Given the description of an element on the screen output the (x, y) to click on. 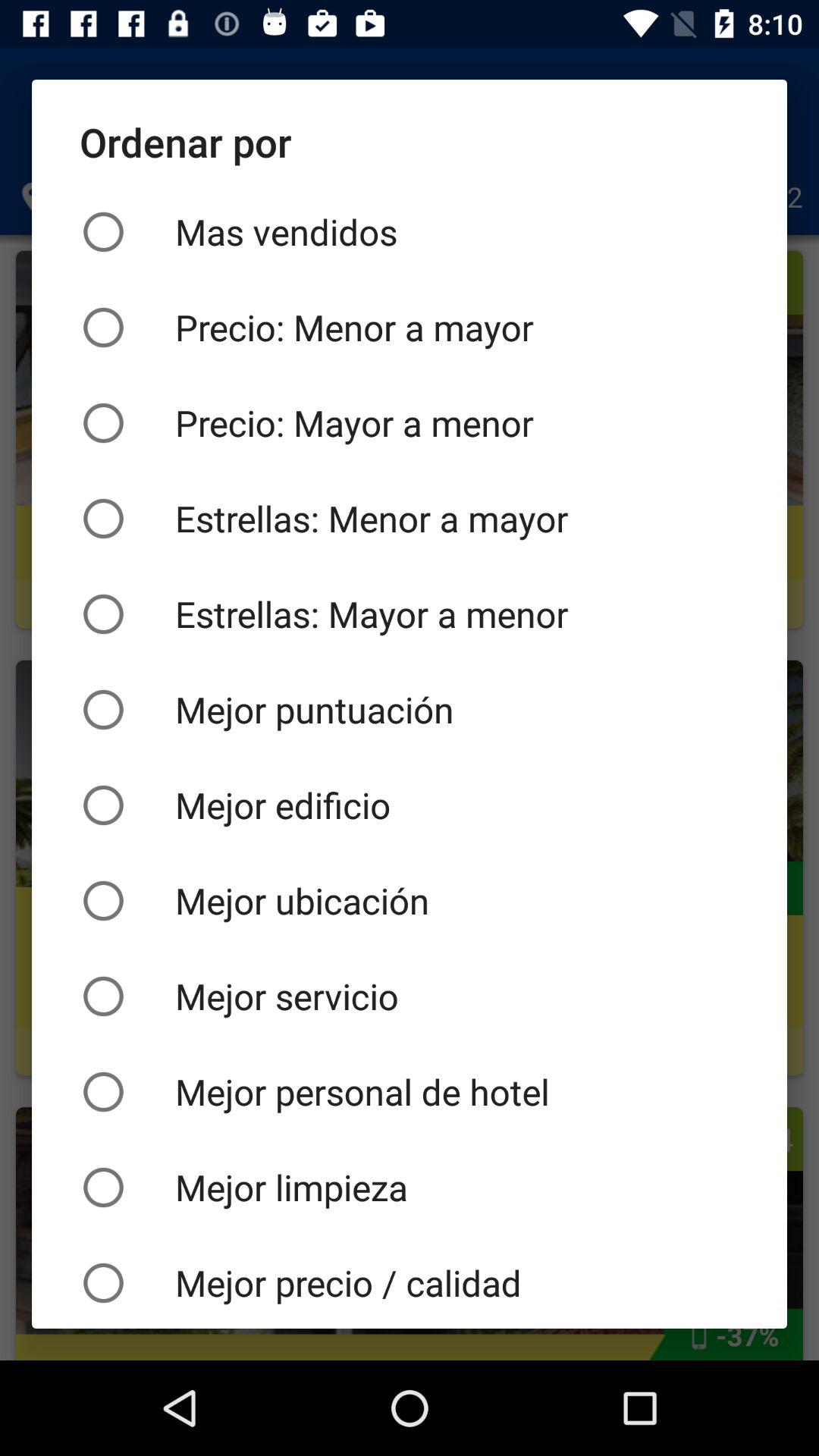
swipe until the mejor edificio icon (409, 805)
